Given the description of an element on the screen output the (x, y) to click on. 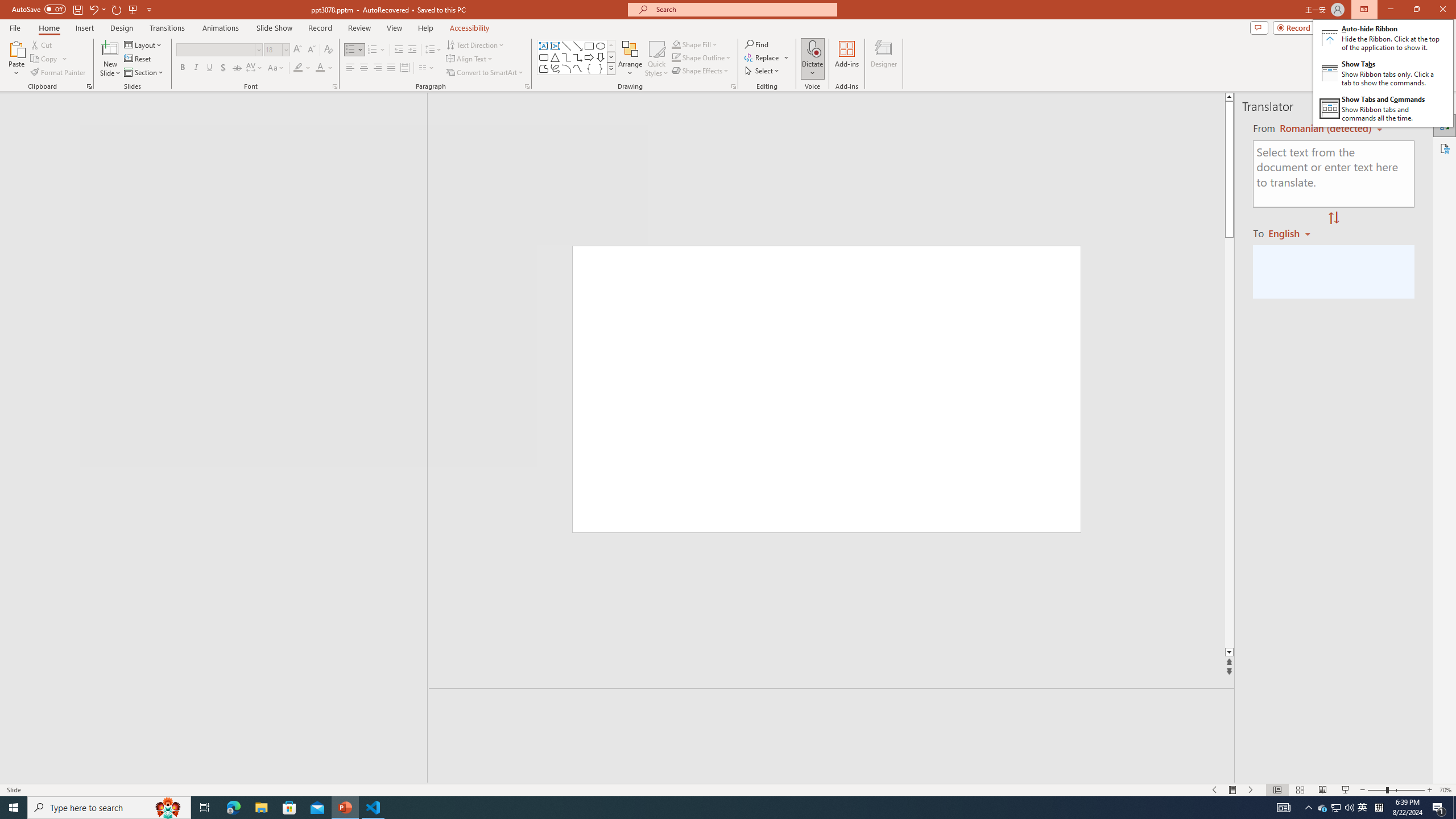
Romanian (1293, 232)
Slide Show Previous On (1214, 790)
